Given the description of an element on the screen output the (x, y) to click on. 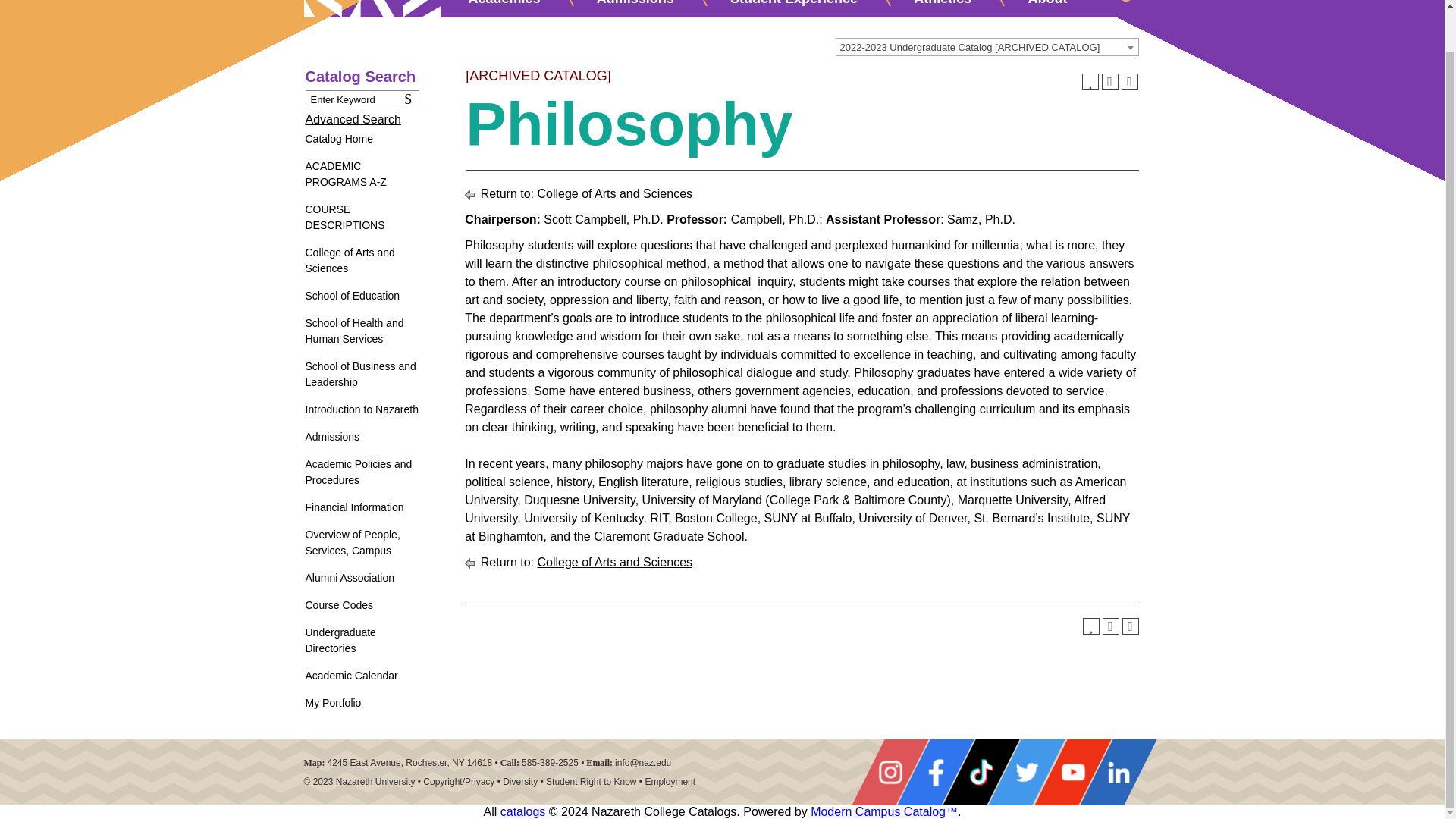
Financial Information (361, 507)
College of Arts and Sciences (361, 260)
Search Keyword Field, required (361, 99)
Course Codes (361, 605)
Admissions (361, 437)
NAZARETH UNIVERSITY (370, 8)
Advanced Search (352, 119)
About (1047, 4)
Admissions (635, 4)
COURSE DESCRIPTIONS (361, 217)
Academic Calendar (361, 675)
Search (411, 98)
School of Business and Leadership (361, 374)
Academics (504, 4)
